Given the description of an element on the screen output the (x, y) to click on. 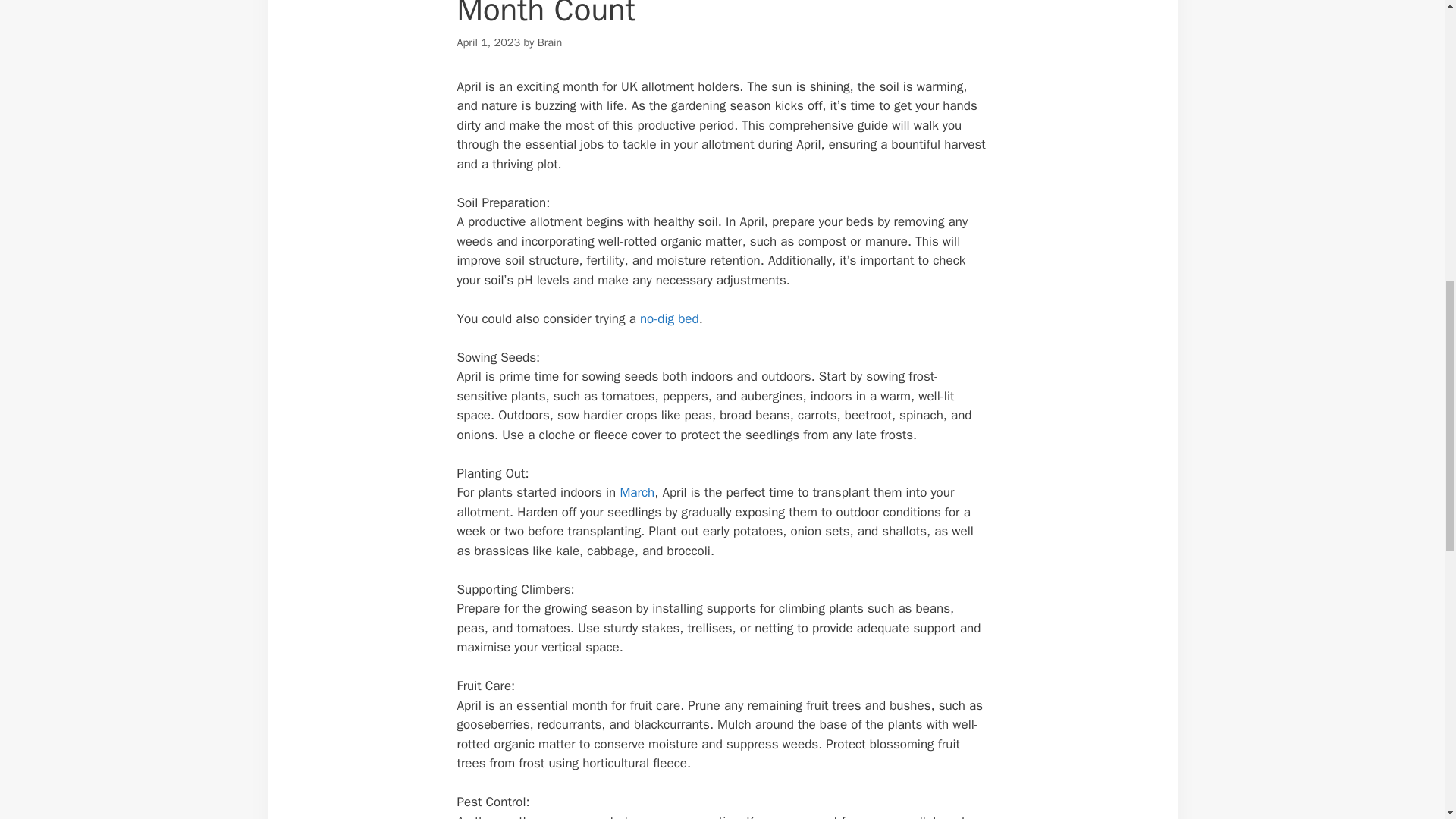
March (634, 492)
View all posts by Brain (549, 42)
Brain (549, 42)
no-dig bed (669, 318)
